Given the description of an element on the screen output the (x, y) to click on. 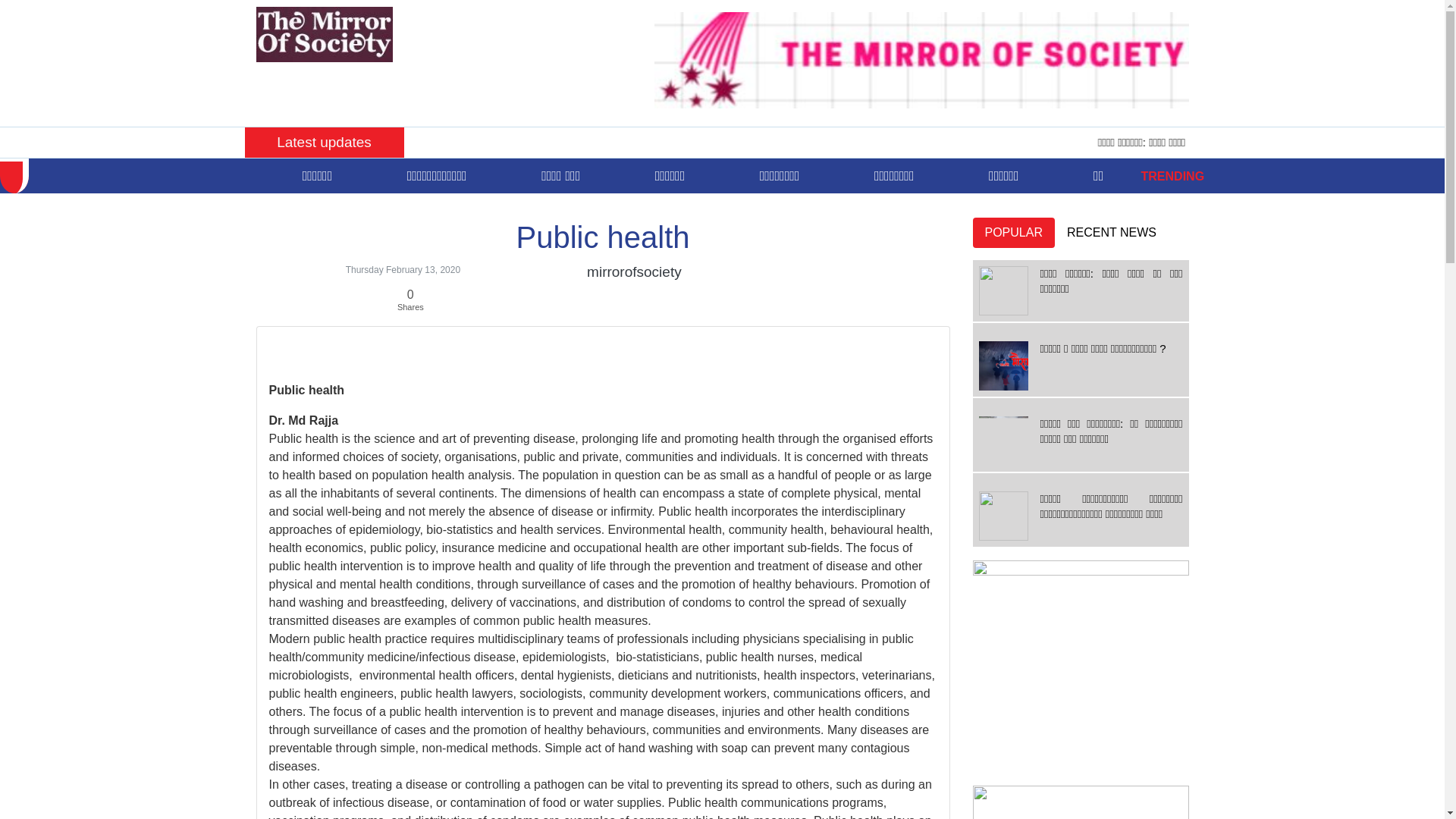
POPULAR (1013, 232)
TRENDING (1173, 175)
RECENT NEWS (1111, 232)
